Given the description of an element on the screen output the (x, y) to click on. 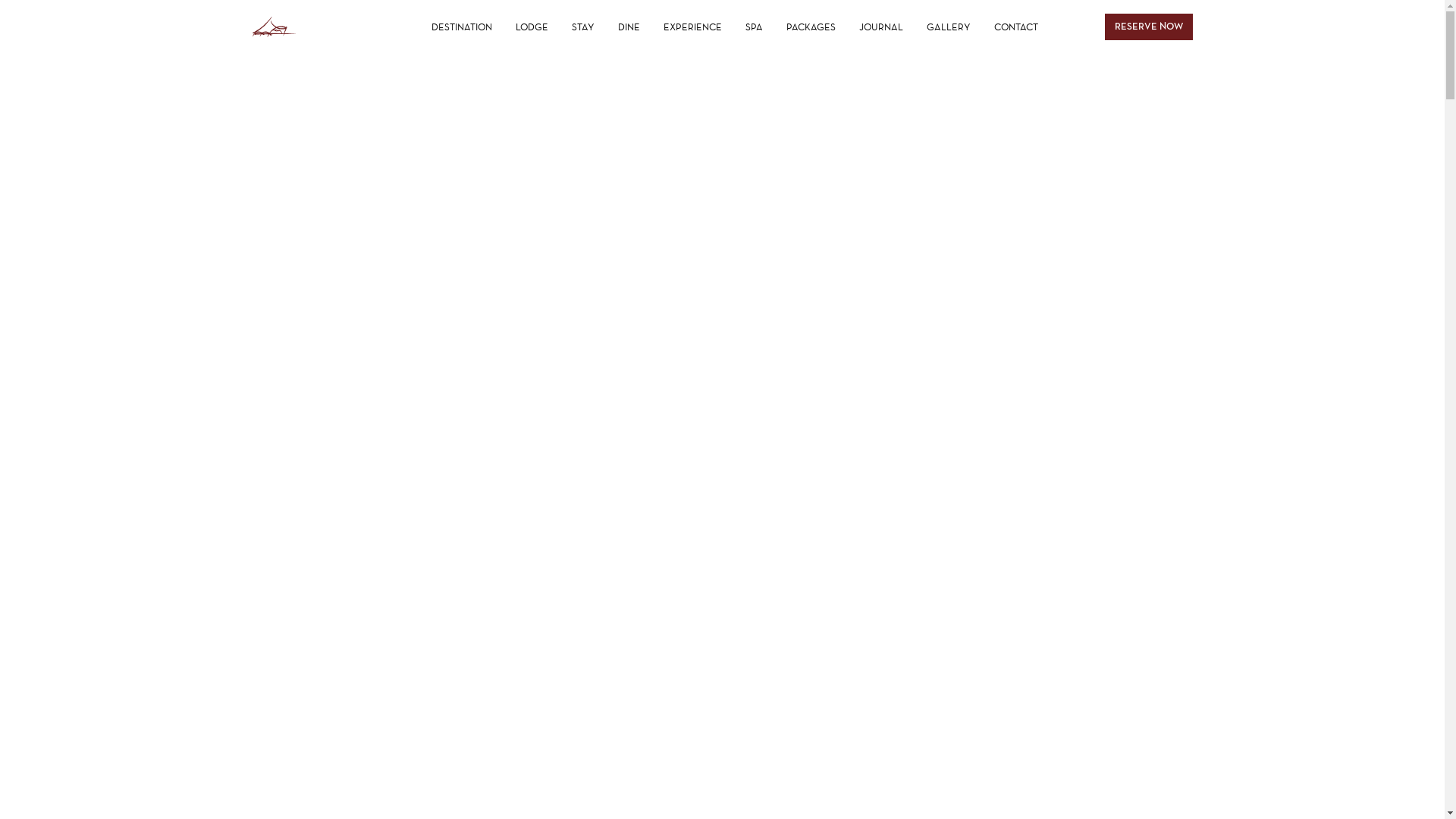
DINE Element type: text (628, 26)
GALLERY Element type: text (948, 26)
SPA Element type: text (753, 26)
DESTINATION Element type: text (461, 26)
JOURNAL Element type: text (880, 26)
LODGE Element type: text (531, 26)
CONTACT Element type: text (1015, 26)
EXPERIENCE Element type: text (692, 26)
RESERVE NOW Element type: text (1148, 26)
STAY Element type: text (583, 26)
PACKAGES Element type: text (810, 26)
